Given the description of an element on the screen output the (x, y) to click on. 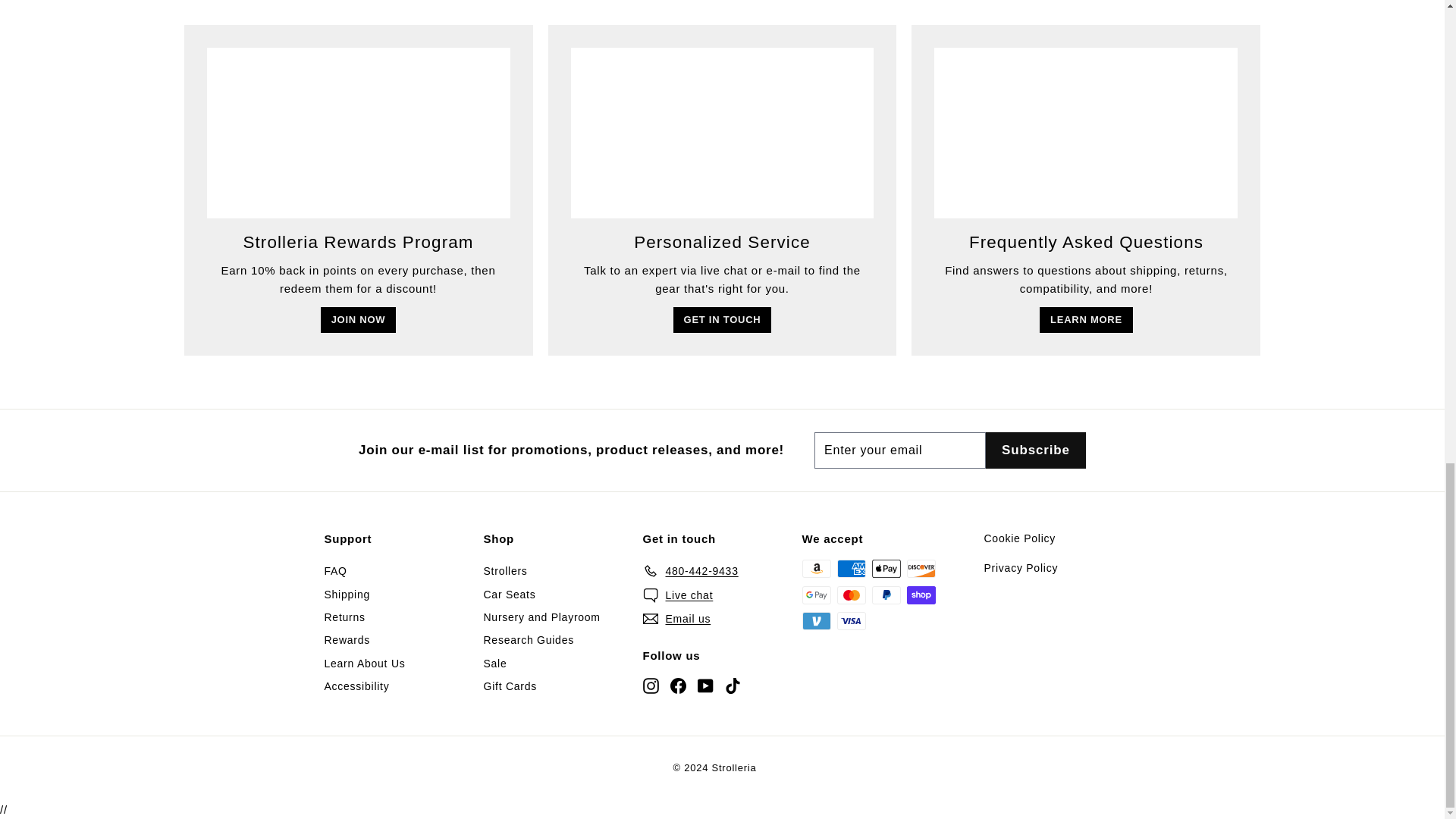
Strolleria on Instagram (651, 684)
Cookie Policy  (1021, 538)
Privacy Policy  (1021, 567)
Strolleria on YouTube (705, 684)
Strolleria on TikTok (733, 684)
Strolleria on Facebook (677, 684)
